Given the description of an element on the screen output the (x, y) to click on. 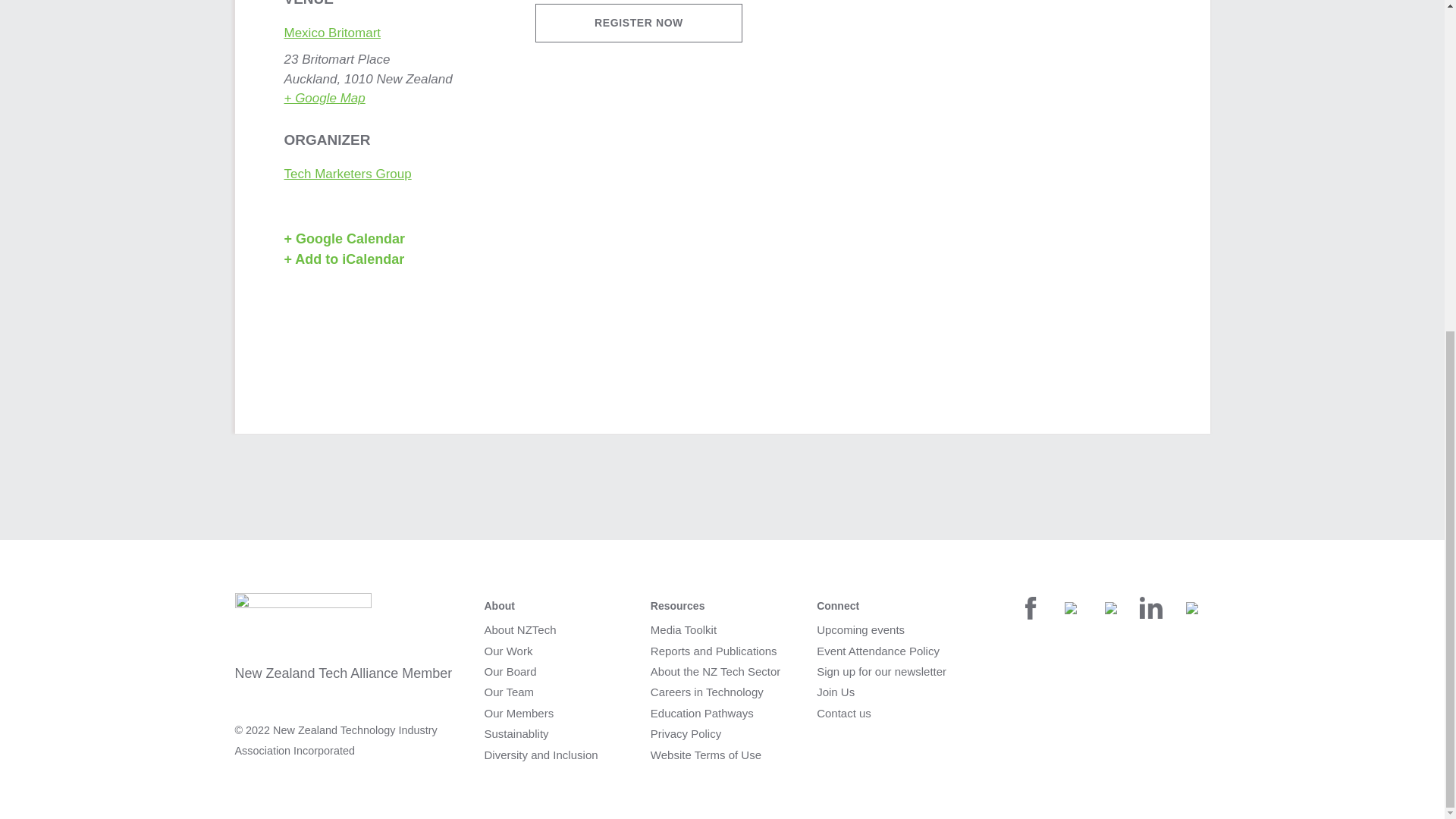
Download .ics file (384, 259)
Click to view a Google Map (324, 97)
Add to Google Calendar (381, 239)
